Given the description of an element on the screen output the (x, y) to click on. 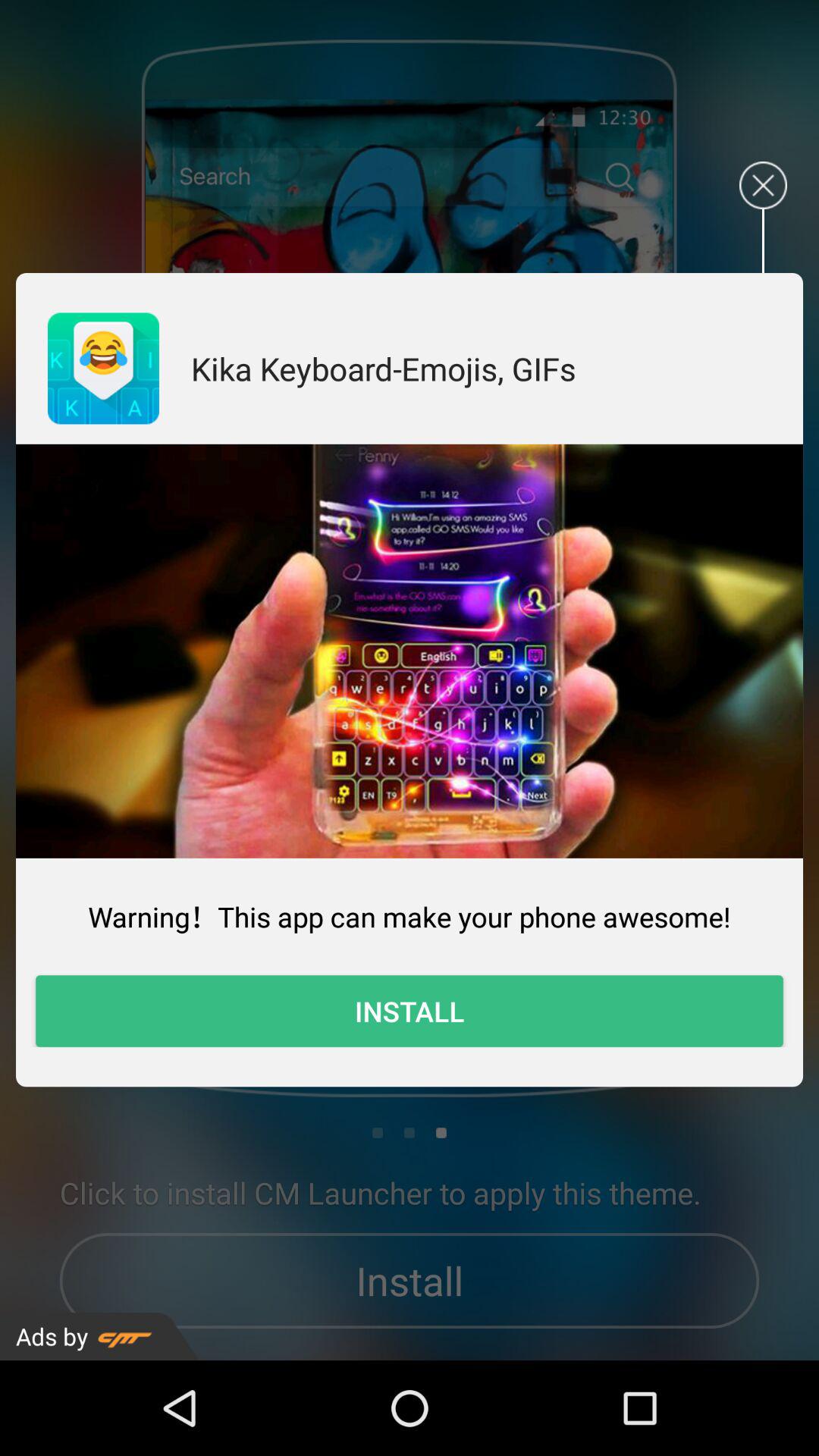
swipe until the install (409, 1011)
